Given the description of an element on the screen output the (x, y) to click on. 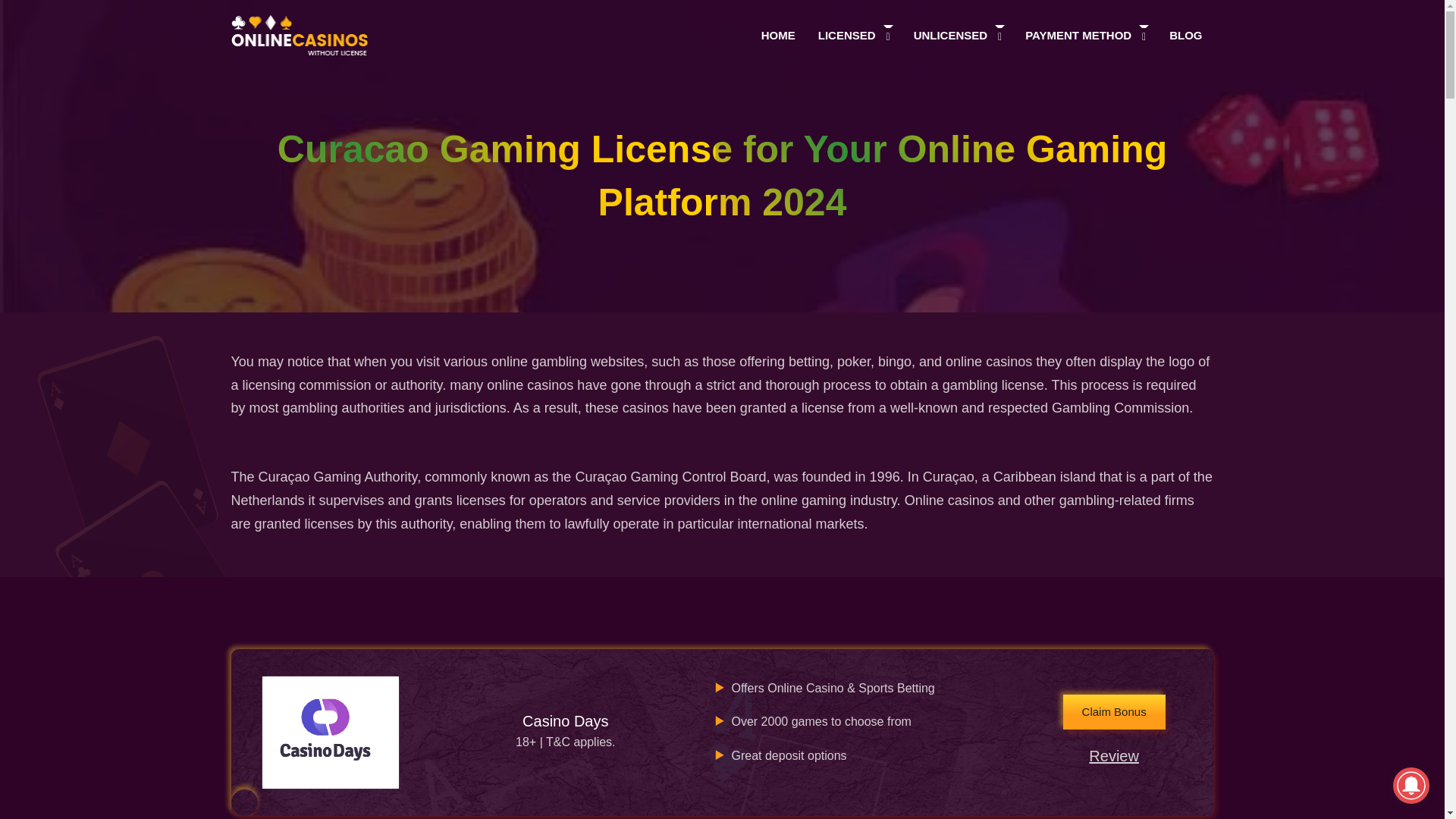
PAYMENT METHOD (1077, 35)
HOME (777, 35)
Review (1114, 755)
UNLICENSED (950, 35)
Claim Bonus (1114, 711)
BLOG (1184, 35)
LICENSED (846, 35)
